Given the description of an element on the screen output the (x, y) to click on. 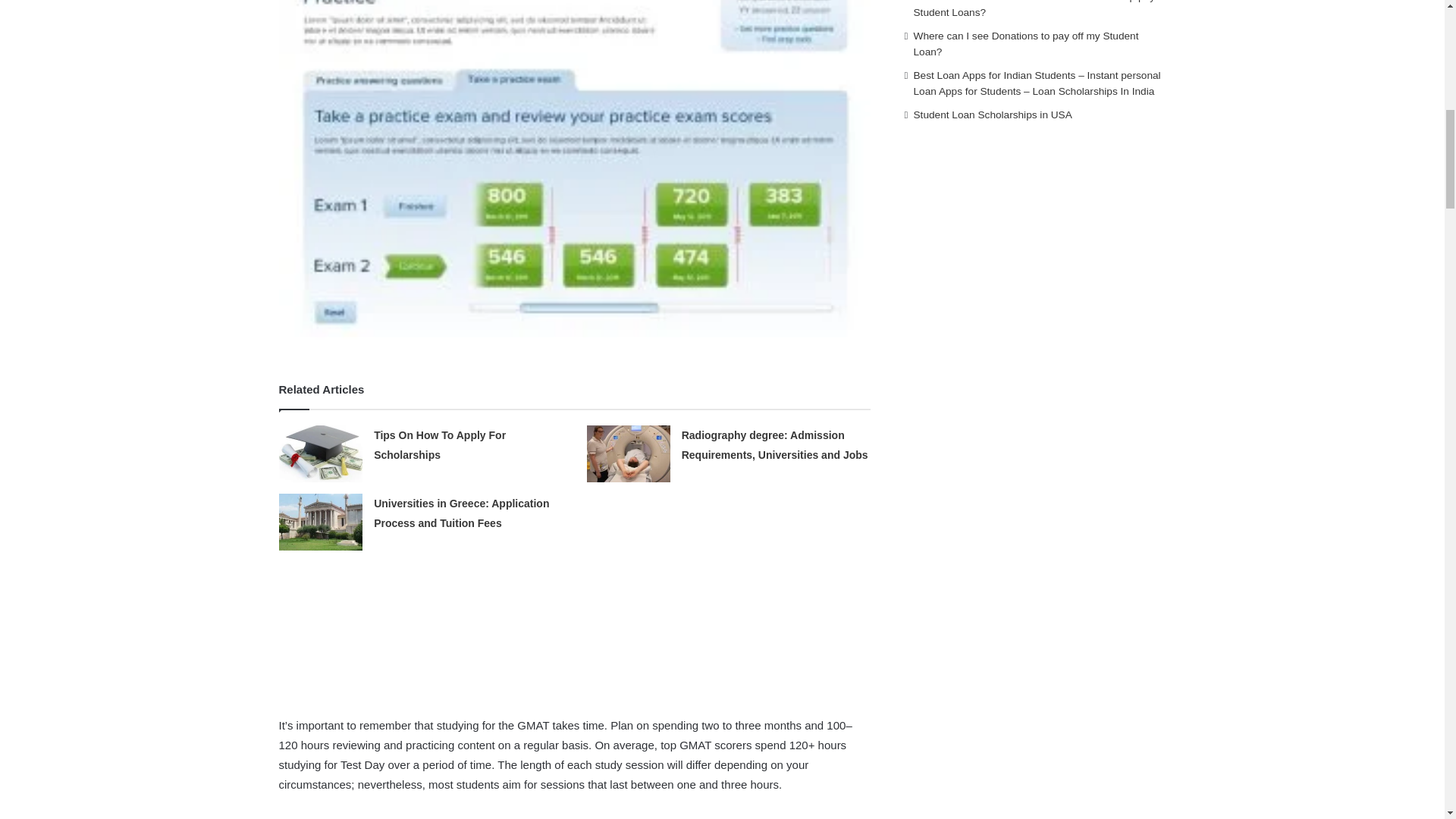
Universities in Greece: Application Process and Tuition Fees (461, 513)
Tips On How To Apply For Scholarships (439, 445)
